Given the description of an element on the screen output the (x, y) to click on. 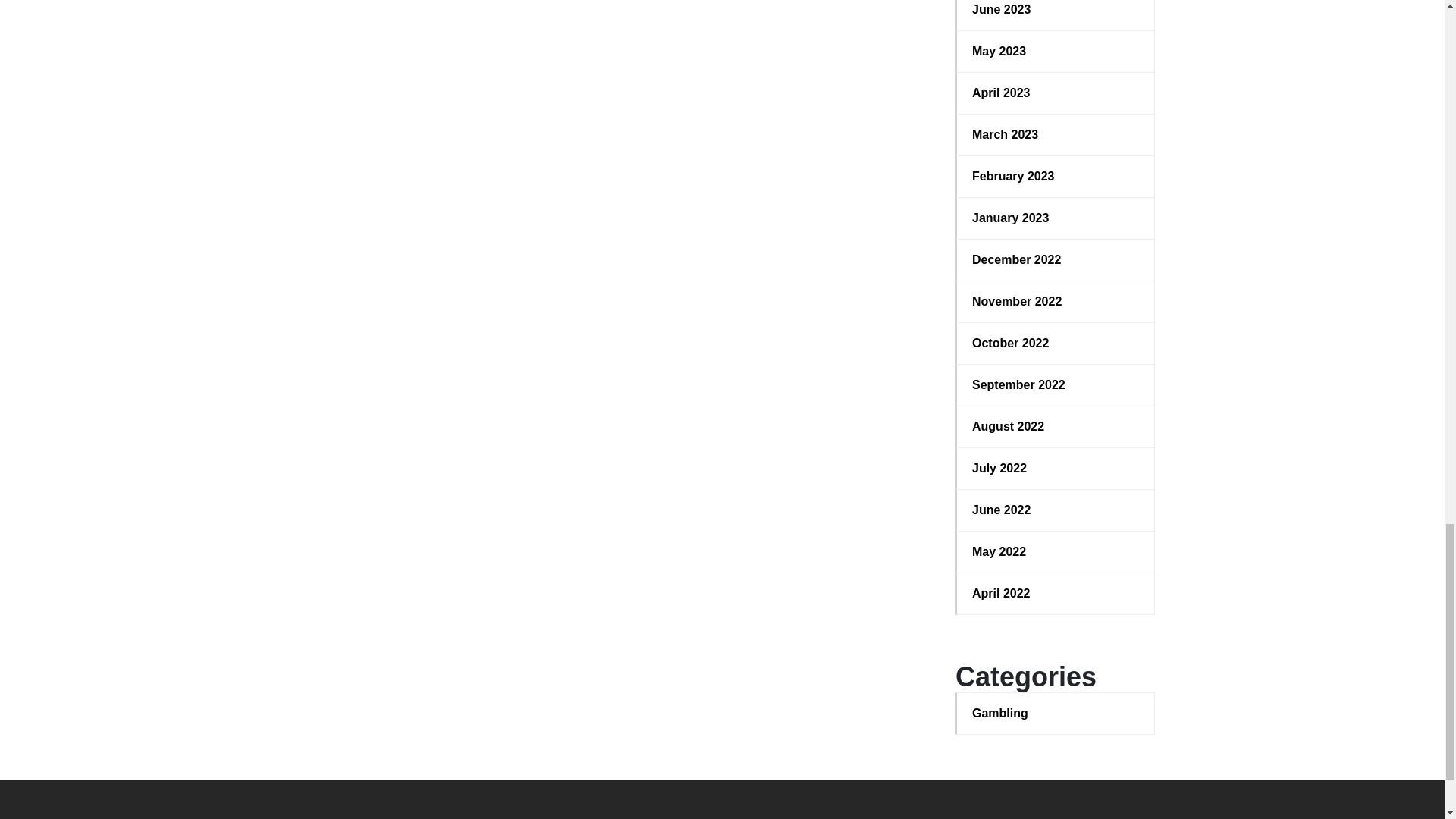
December 2022 (1055, 259)
June 2023 (1055, 9)
May 2023 (1055, 51)
September 2022 (1055, 384)
January 2023 (1055, 218)
April 2023 (1055, 93)
March 2023 (1055, 135)
February 2023 (1055, 176)
November 2022 (1055, 301)
October 2022 (1055, 343)
